Given the description of an element on the screen output the (x, y) to click on. 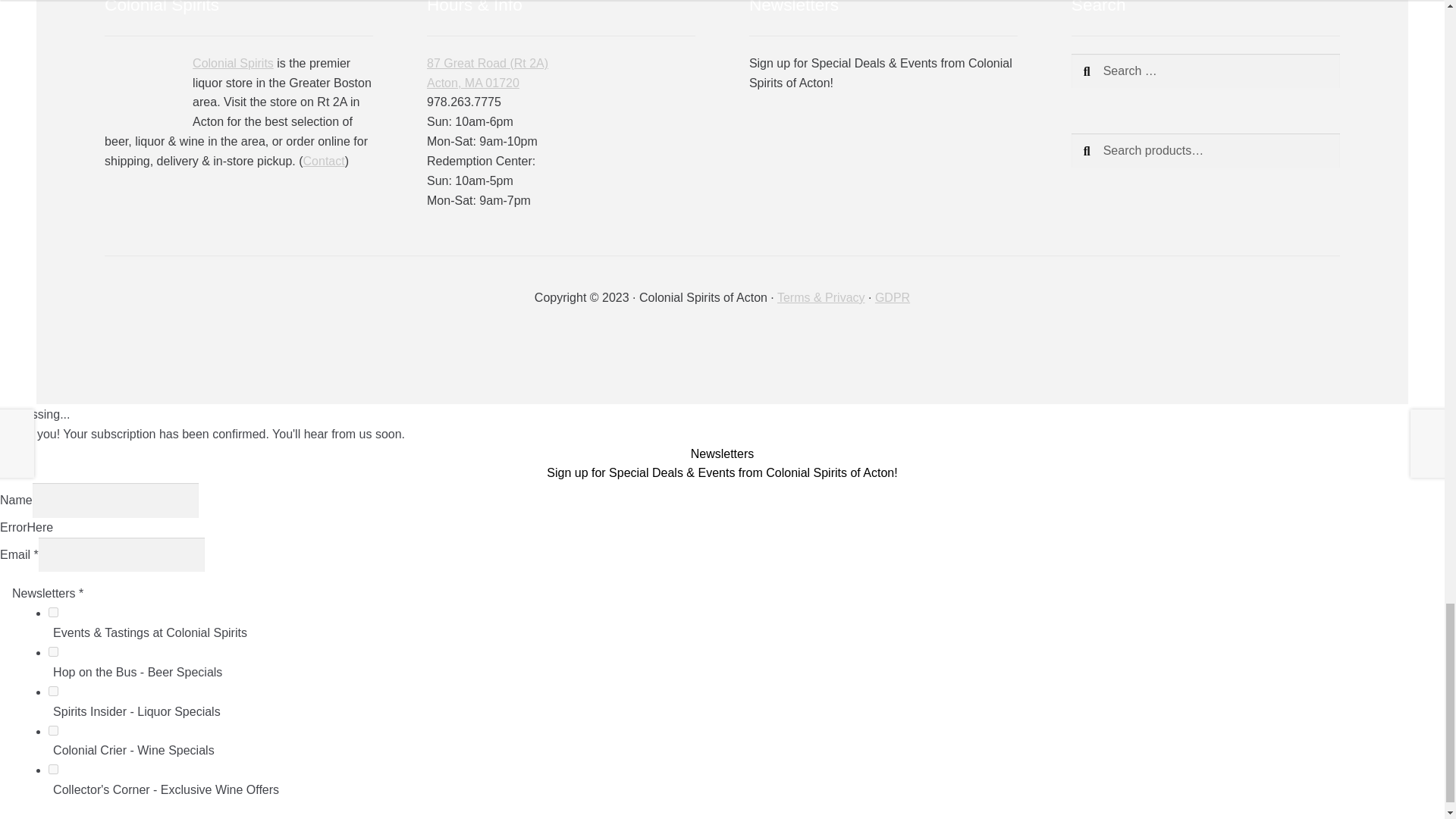
Collector's Corner - Exclusive Wine Offers (53, 768)
Hop on the Bus - Beer Specials (53, 651)
Colonial Crier - Wine Specials (53, 730)
Spirits Insider - Liquor Specials (53, 691)
